Given the description of an element on the screen output the (x, y) to click on. 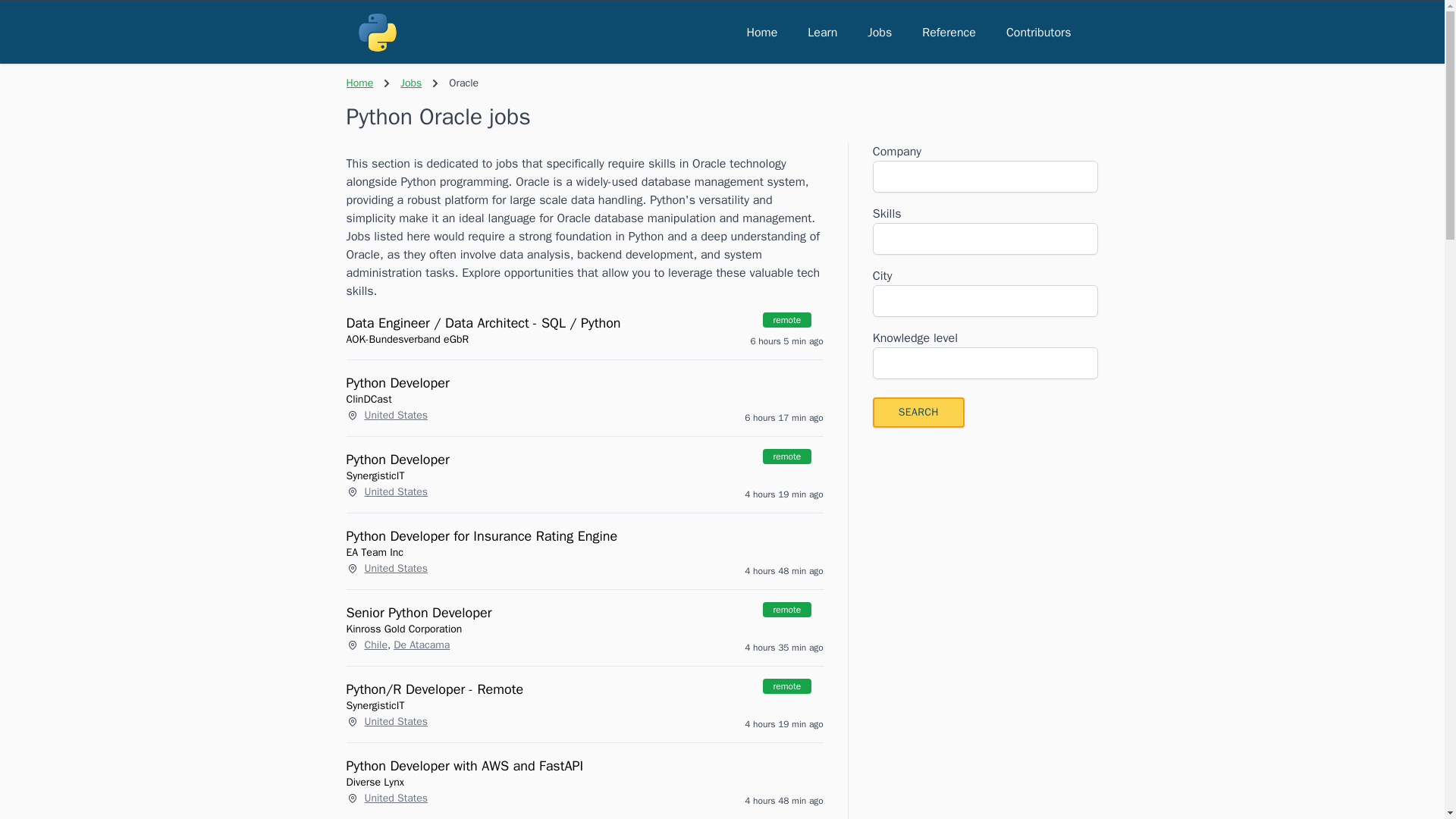
Home (359, 83)
Search (917, 412)
Reference (948, 32)
De Atacama (421, 645)
Learn (821, 32)
Jobs (411, 83)
United States (396, 568)
Home (761, 32)
United States (396, 798)
Contributors (1038, 32)
